Given the description of an element on the screen output the (x, y) to click on. 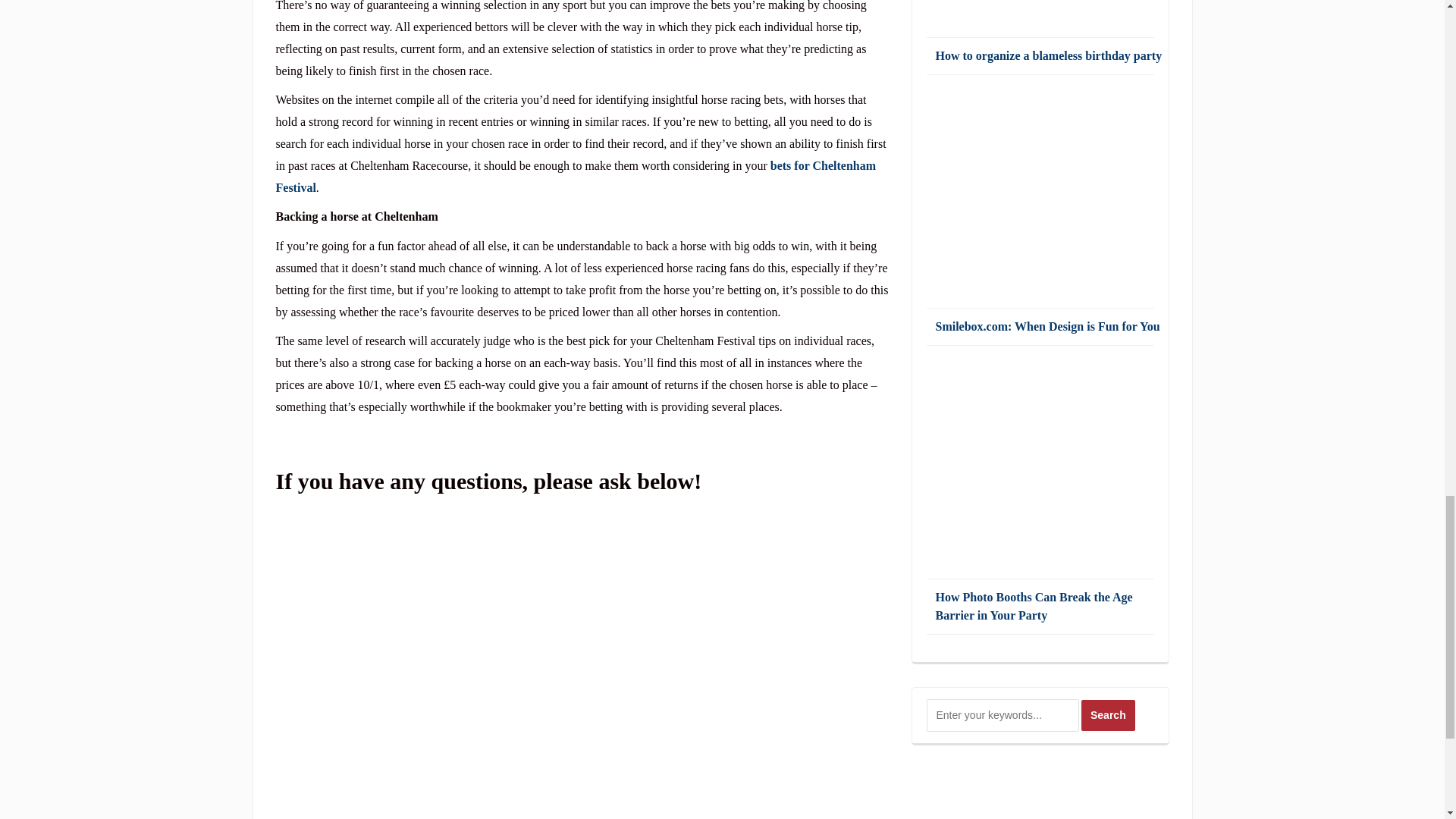
Search (1108, 715)
Search (1108, 715)
